Given the description of an element on the screen output the (x, y) to click on. 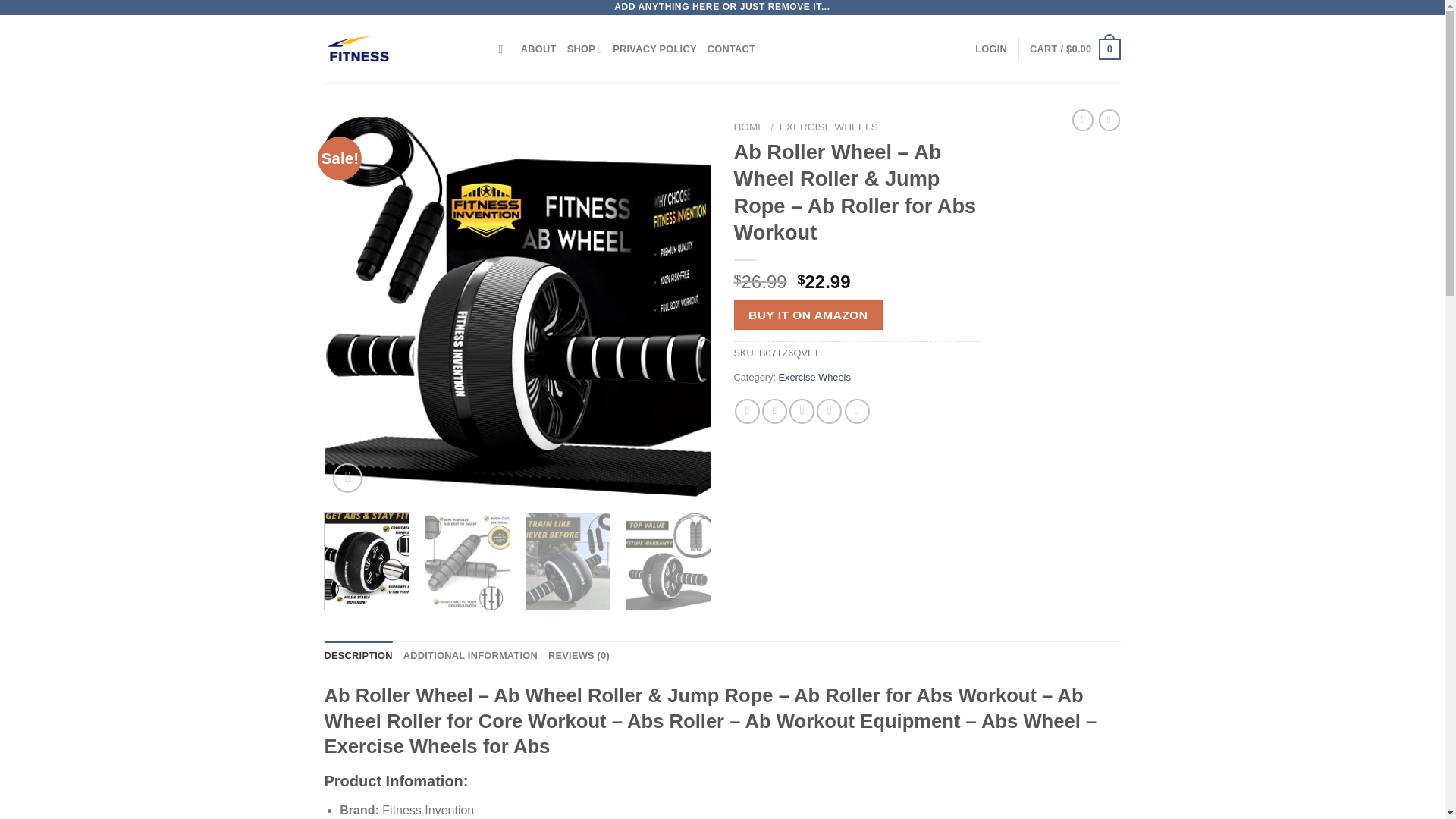
ABOUT (538, 49)
SHOP (584, 49)
Cart (1074, 48)
PRIVACY POLICY (653, 49)
HOME (749, 126)
CONTACT (731, 49)
EXERCISE WHEELS (827, 126)
LOGIN (991, 49)
